Given the description of an element on the screen output the (x, y) to click on. 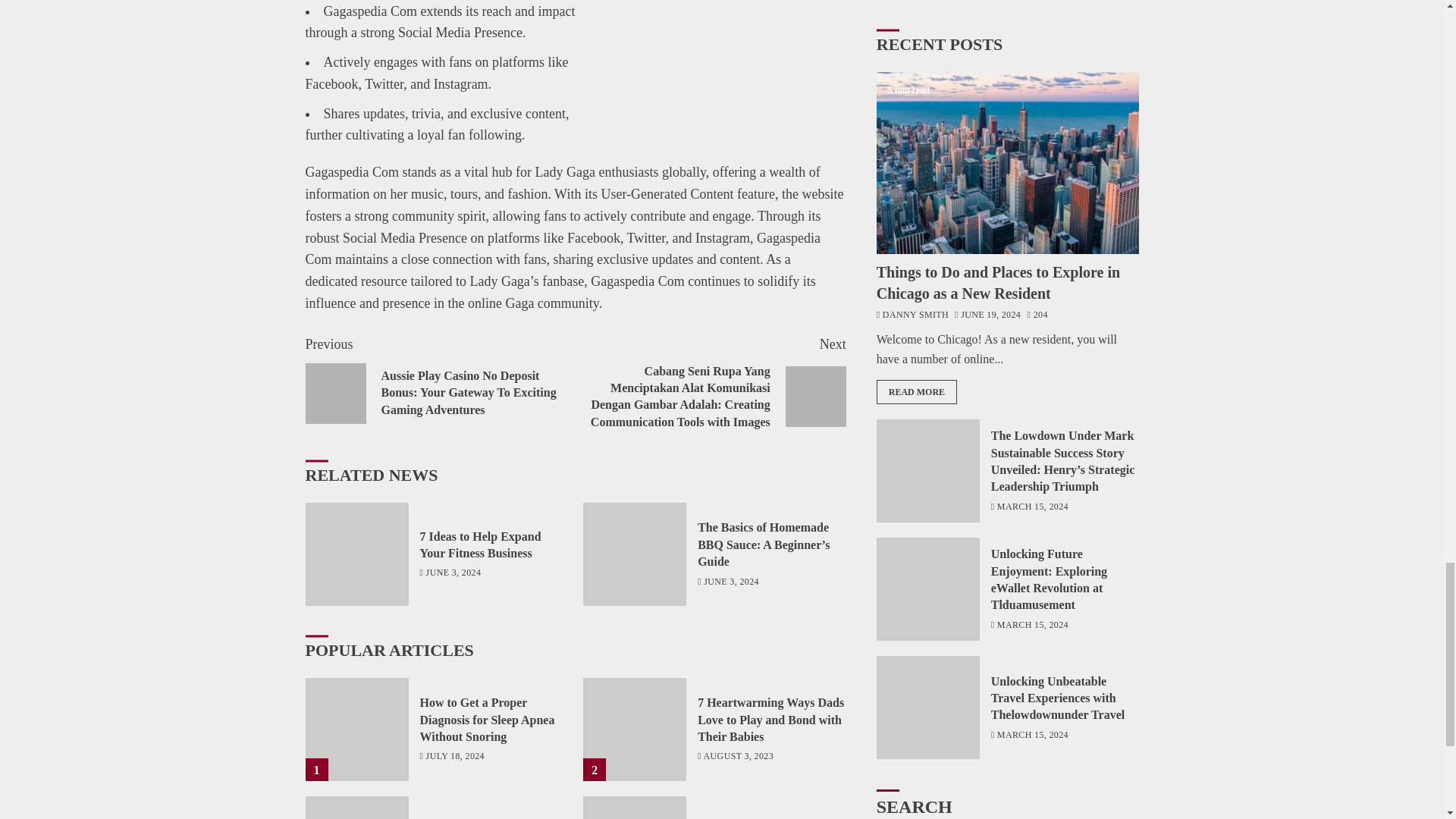
7 Ideas to Help Expand Your Fitness Business (480, 544)
New York to Cape Cod Canal Travel Options (634, 807)
Latest Cool Tech Gadgets (355, 807)
7 Ideas to Help Expand Your Fitness Business (355, 554)
